Given the description of an element on the screen output the (x, y) to click on. 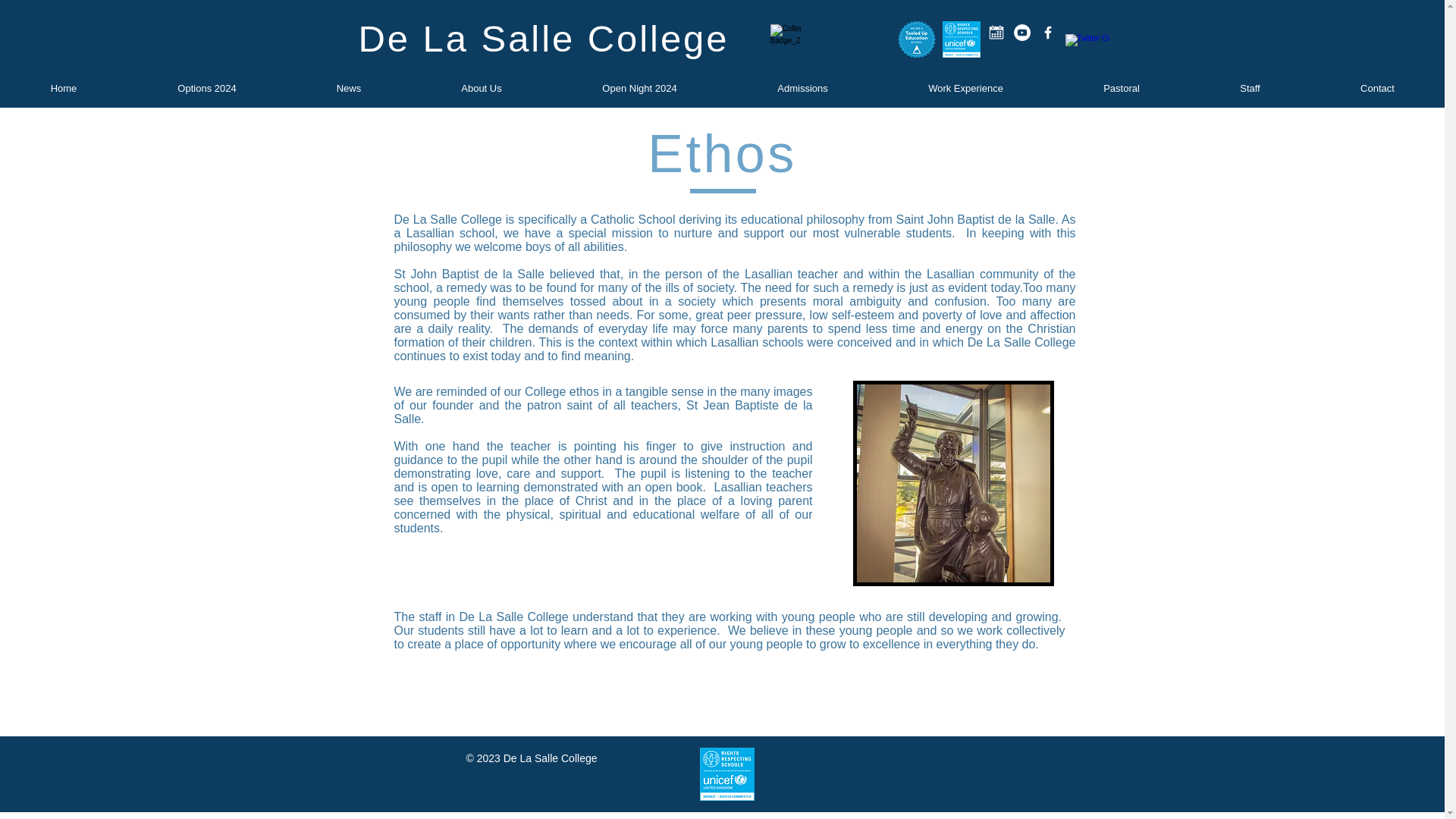
Options 2024 (207, 88)
Open Night 2024 (638, 88)
De La Salle College (543, 38)
Home (64, 88)
Work Experience (964, 88)
Admissions (801, 88)
